Given the description of an element on the screen output the (x, y) to click on. 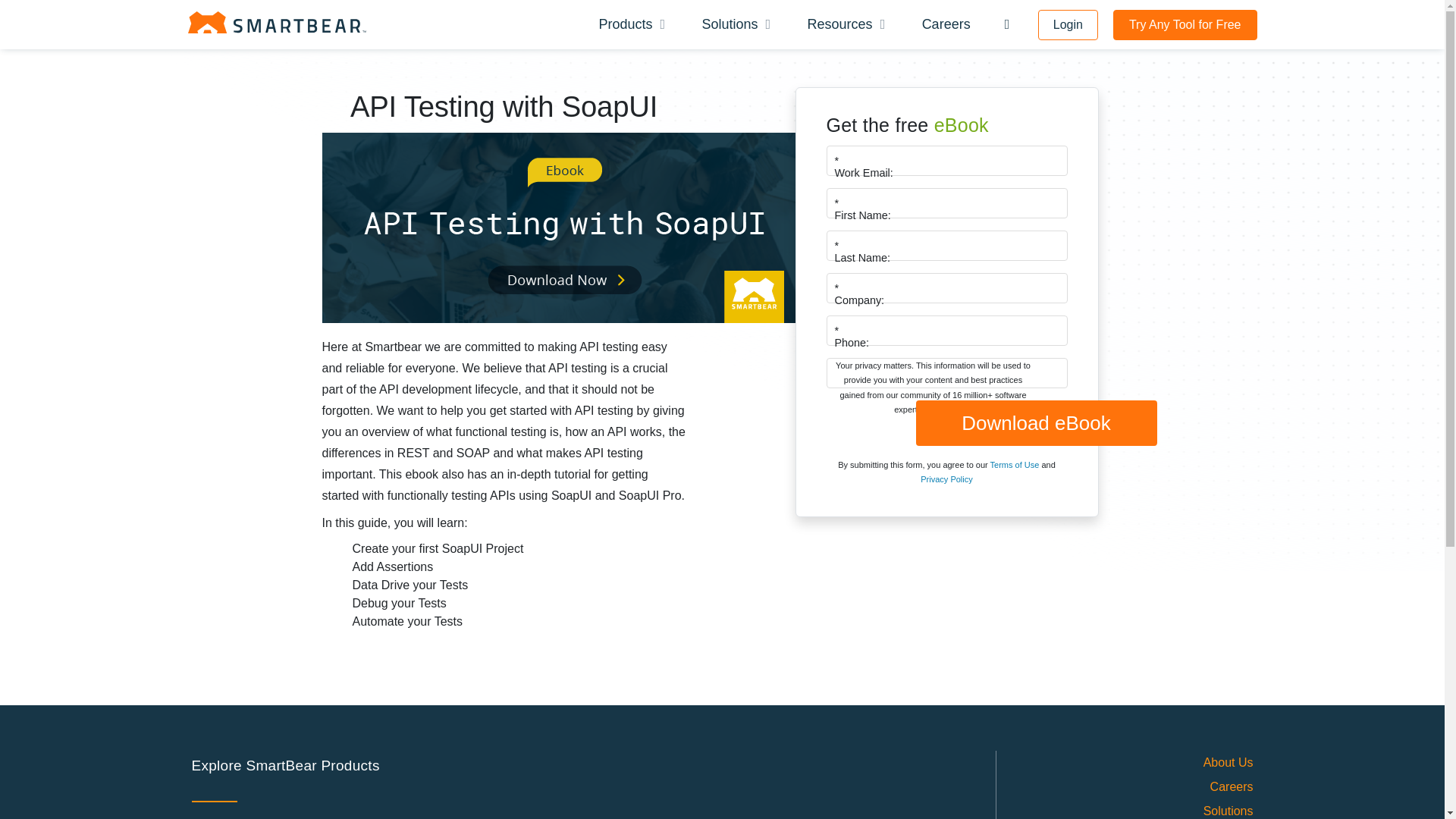
Login (1067, 24)
Resources (844, 24)
Products (628, 24)
Solutions (733, 24)
Careers (946, 24)
